Given the description of an element on the screen output the (x, y) to click on. 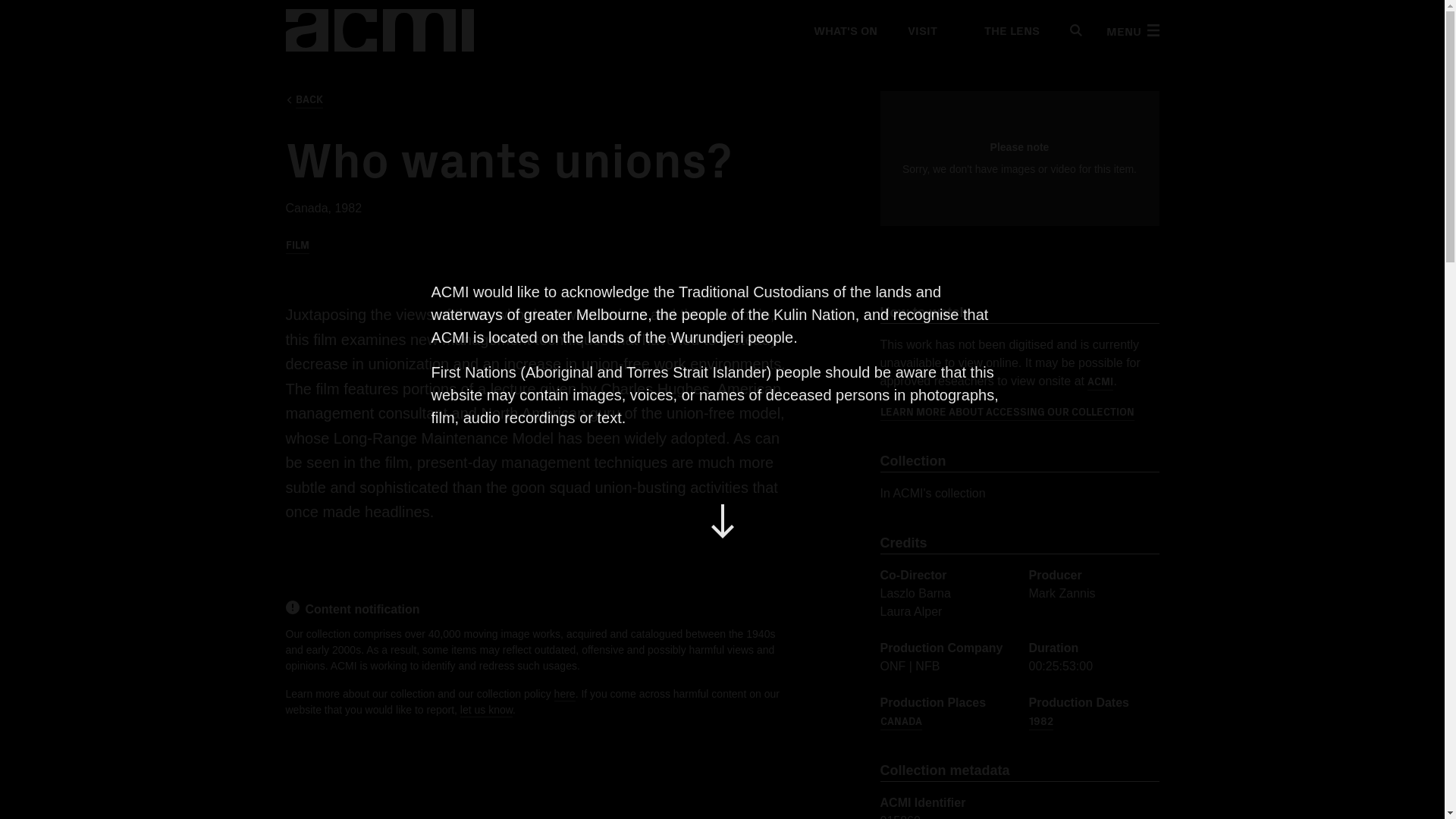
WHAT'S ON (844, 30)
MENU (1131, 29)
THE LENS (1003, 30)
VISIT (921, 30)
